Given the description of an element on the screen output the (x, y) to click on. 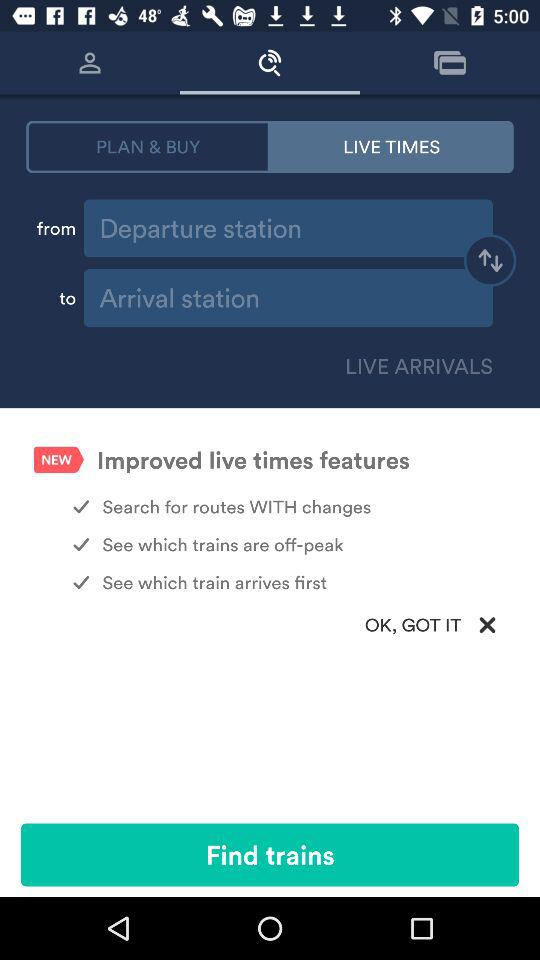
swipe to plan & buy icon (148, 146)
